Given the description of an element on the screen output the (x, y) to click on. 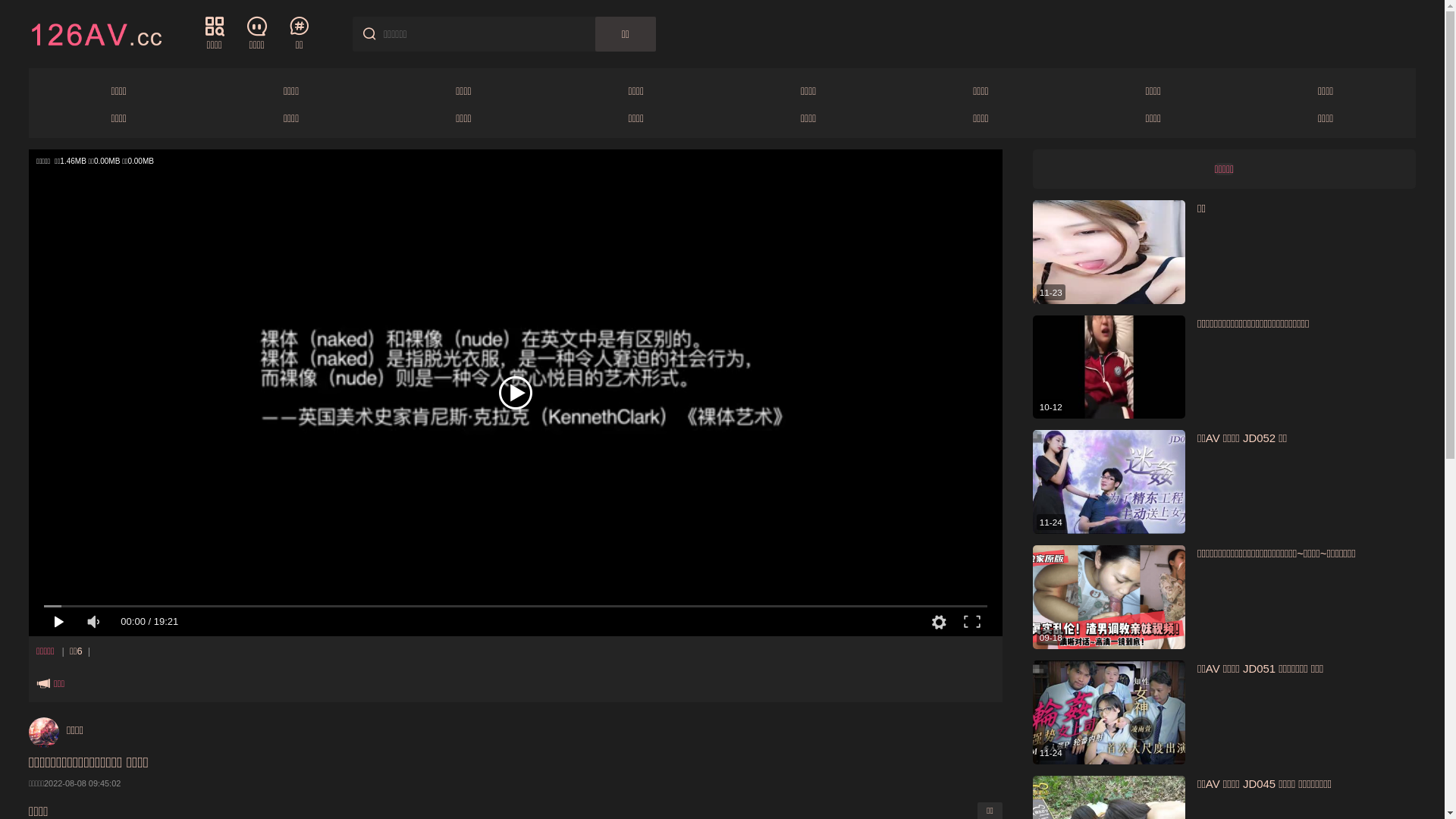
11-23 Element type: text (1108, 252)
11-24 Element type: text (1108, 712)
10-12 Element type: text (1108, 367)
126AV Element type: hover (94, 33)
09-18 Element type: text (1108, 597)
11-24 Element type: text (1108, 481)
